Given the description of an element on the screen output the (x, y) to click on. 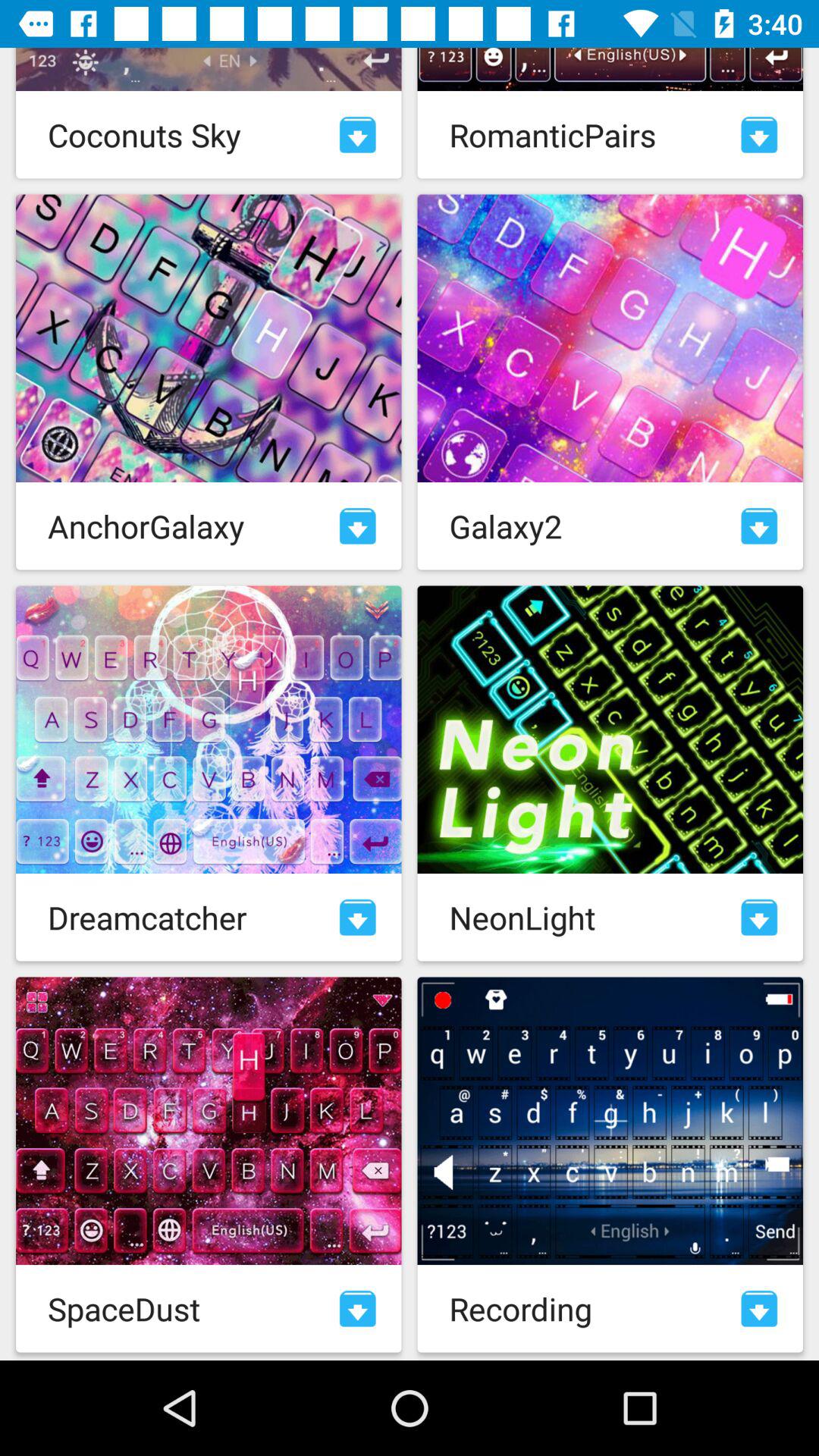
download (759, 134)
